Given the description of an element on the screen output the (x, y) to click on. 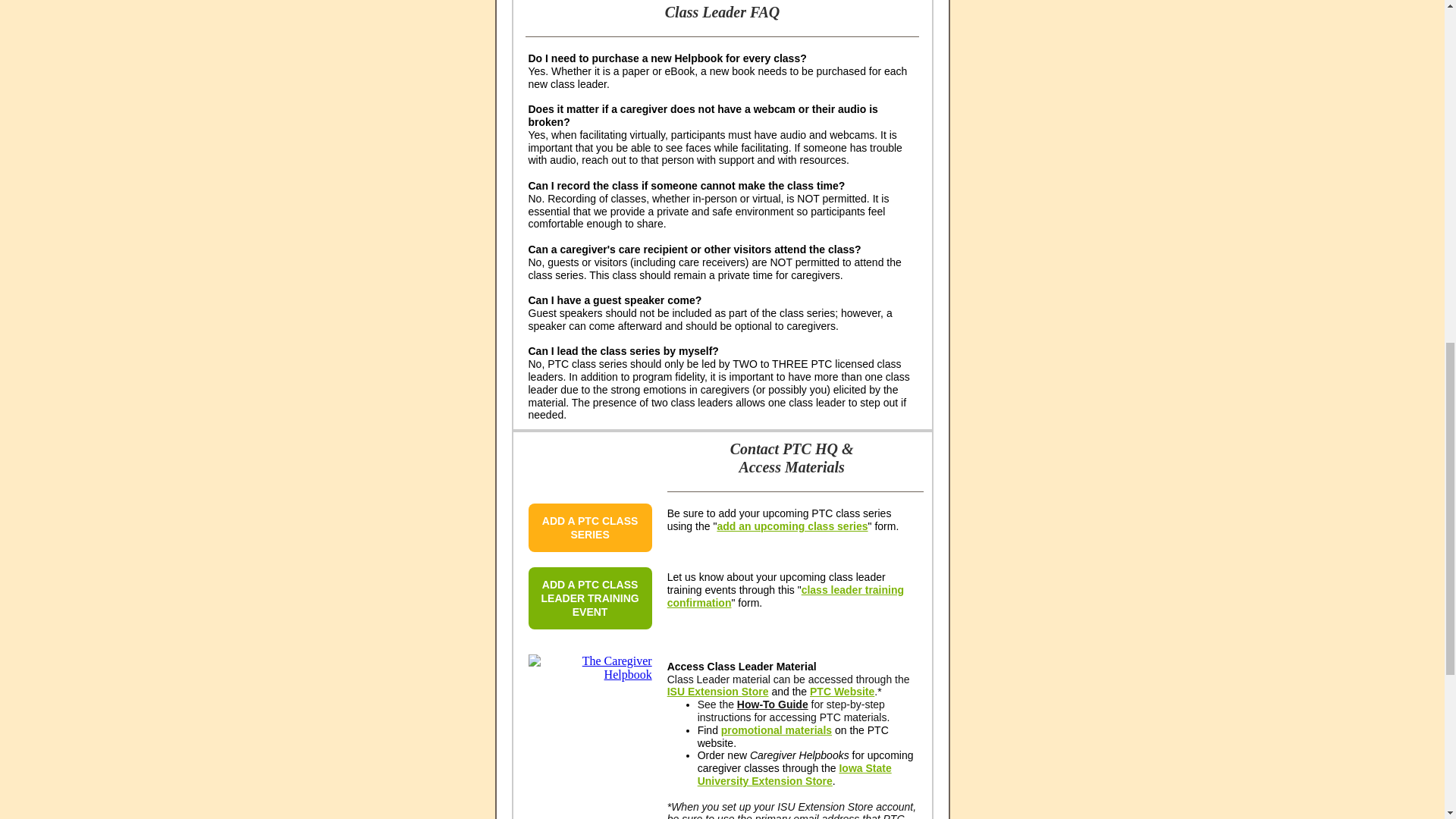
ISU Extension Store (717, 691)
ADD A PTC CLASS LEADER TRAINING EVENT (590, 598)
ADD A PTC CLASS SERIES (590, 527)
Iowa State University Extension Store (794, 774)
promotional materials (775, 729)
PTC Website (842, 691)
add an upcoming class series (791, 526)
How-To Guide (772, 704)
class leader training confirmation (785, 596)
